Given the description of an element on the screen output the (x, y) to click on. 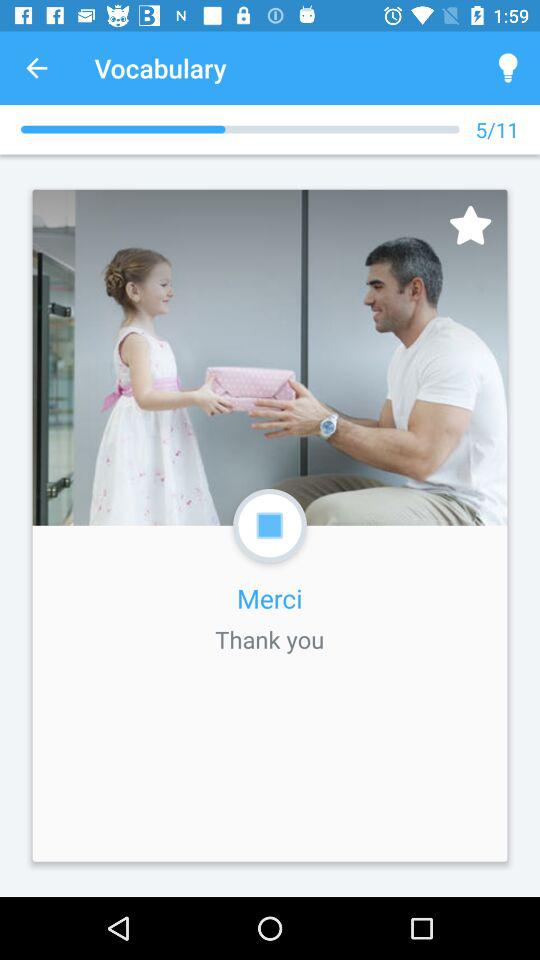
favorite image (470, 224)
